Given the description of an element on the screen output the (x, y) to click on. 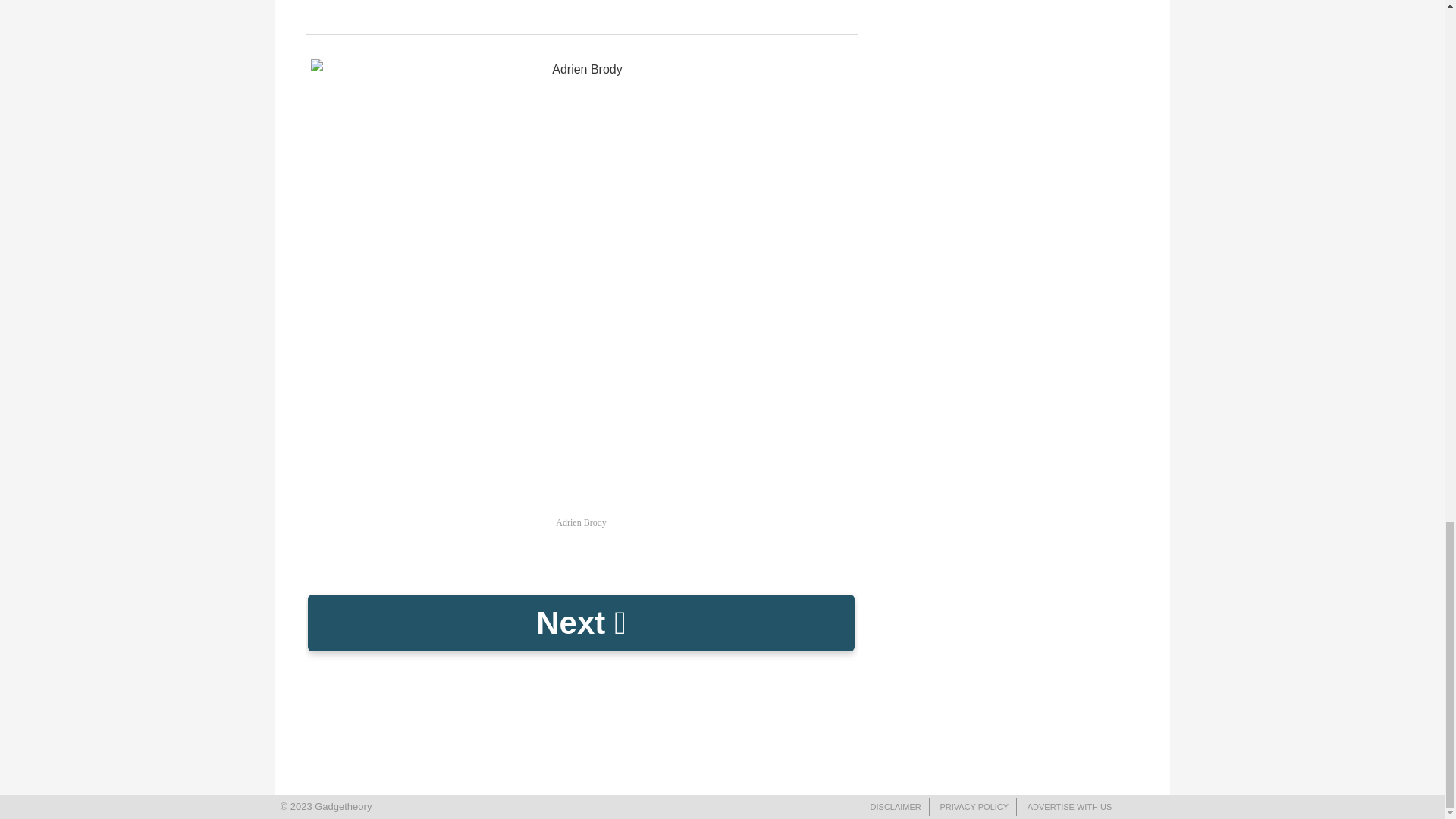
ADVERTISE WITH US (1069, 806)
Next (580, 622)
PRIVACY POLICY (974, 806)
DISCLAIMER (895, 806)
